Given the description of an element on the screen output the (x, y) to click on. 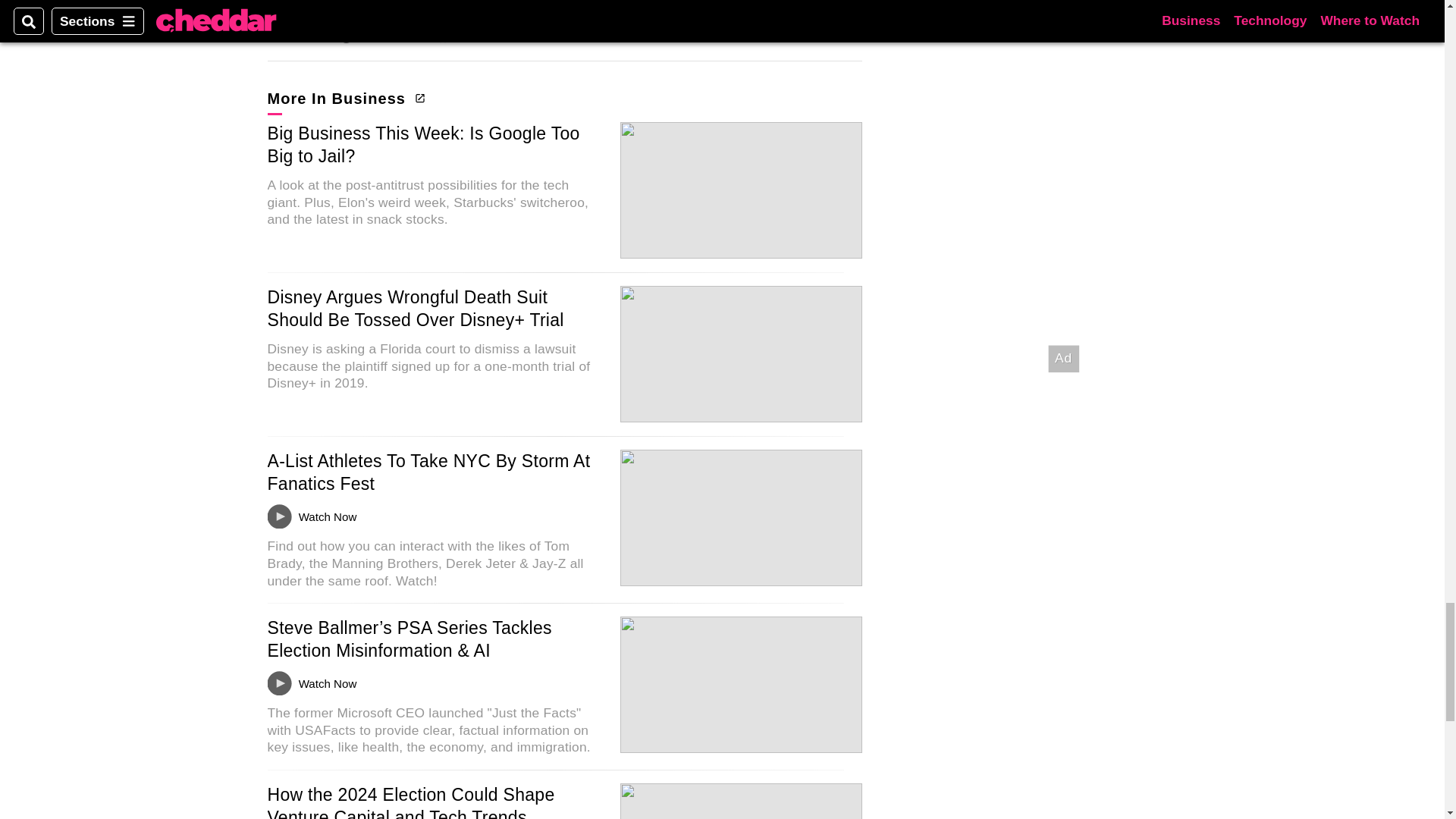
Big Business This Week: Is Google Too Big to Jail? (422, 144)
A-List Athletes To Take NYC By Storm At Fanatics Fest (427, 472)
More In Business (344, 98)
